Given the description of an element on the screen output the (x, y) to click on. 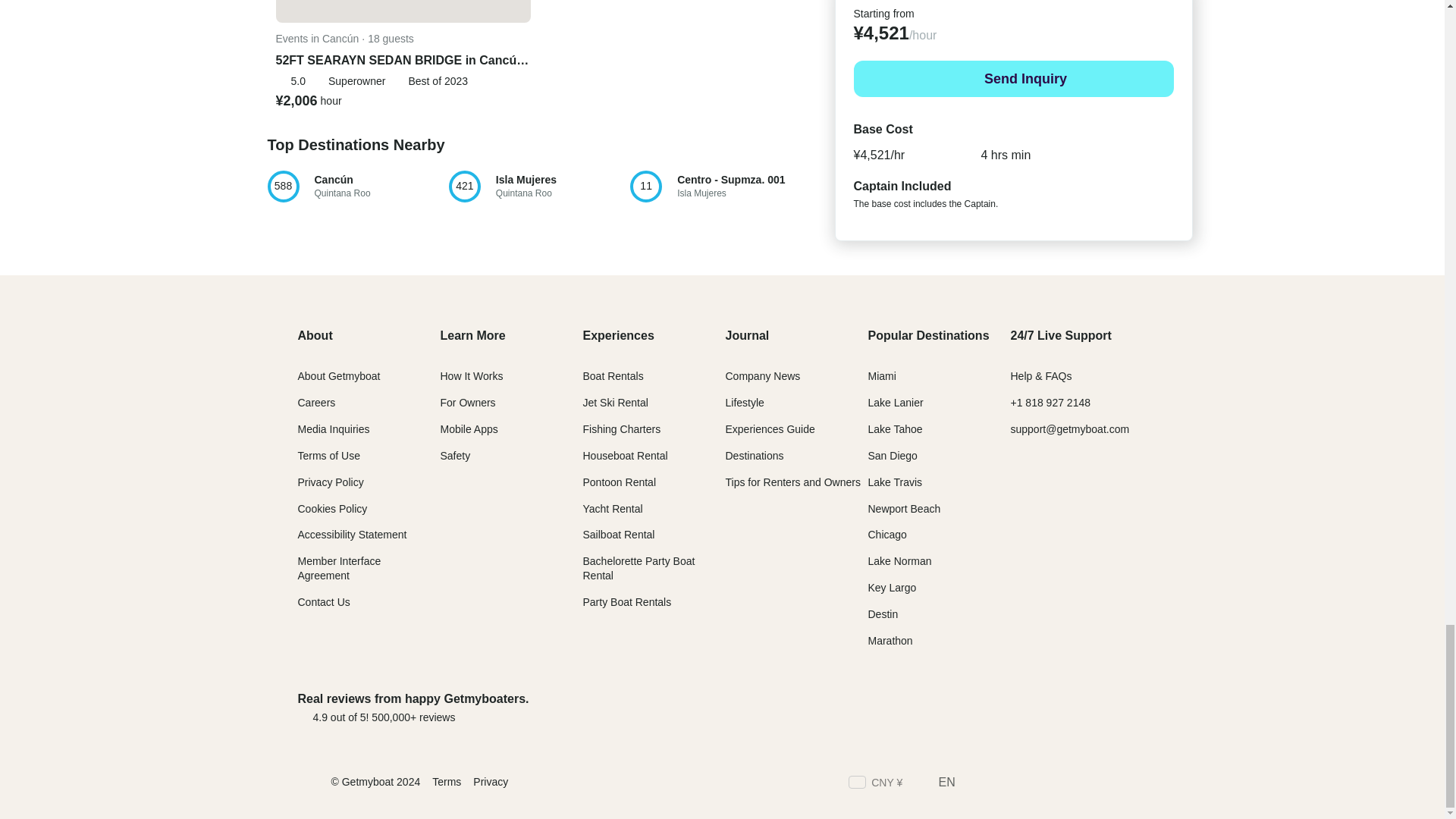
Twitter (1002, 784)
YouTube (719, 186)
Facebook (1139, 784)
Get it on Google Play (975, 784)
TikTok (1096, 707)
LinkedIn (538, 186)
Pinterest (1084, 784)
Download on the App Store (1056, 784)
